Given the description of an element on the screen output the (x, y) to click on. 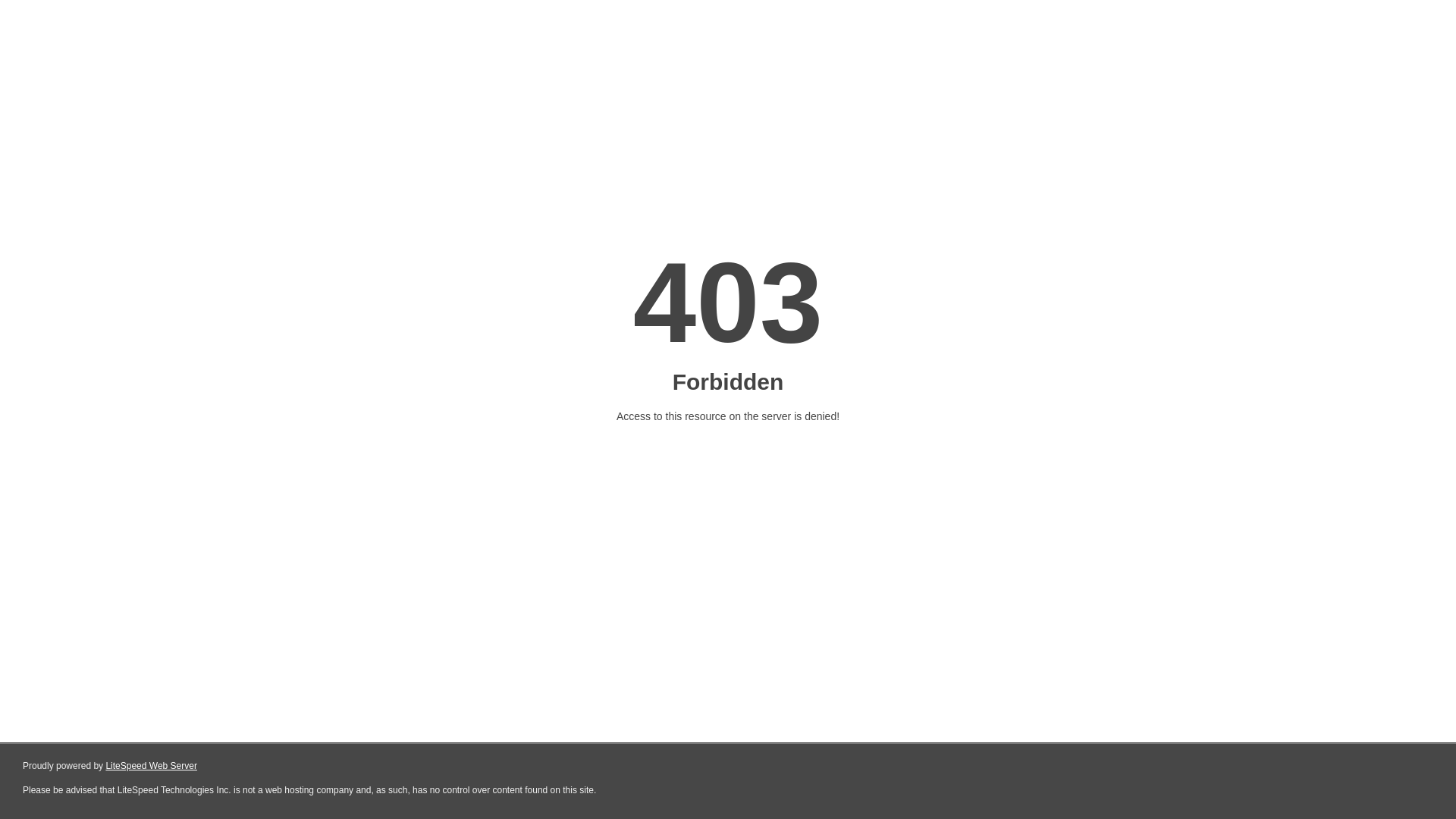
LiteSpeed Web Server (150, 765)
